Given the description of an element on the screen output the (x, y) to click on. 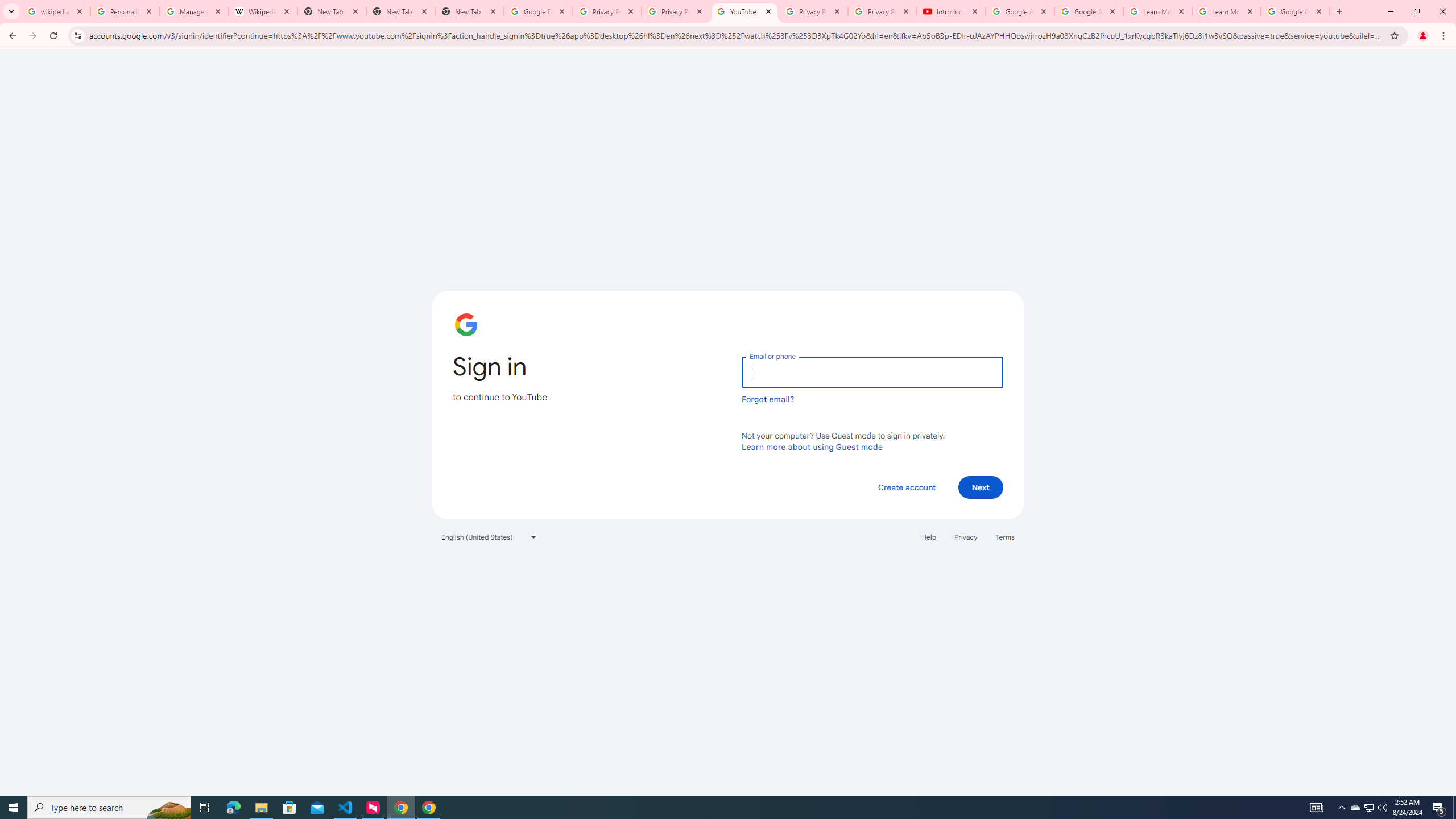
Google Account (1295, 11)
Create account (905, 486)
English (United States) (489, 536)
Personalization & Google Search results - Google Search Help (124, 11)
Google Drive: Sign-in (538, 11)
New Tab (469, 11)
